Given the description of an element on the screen output the (x, y) to click on. 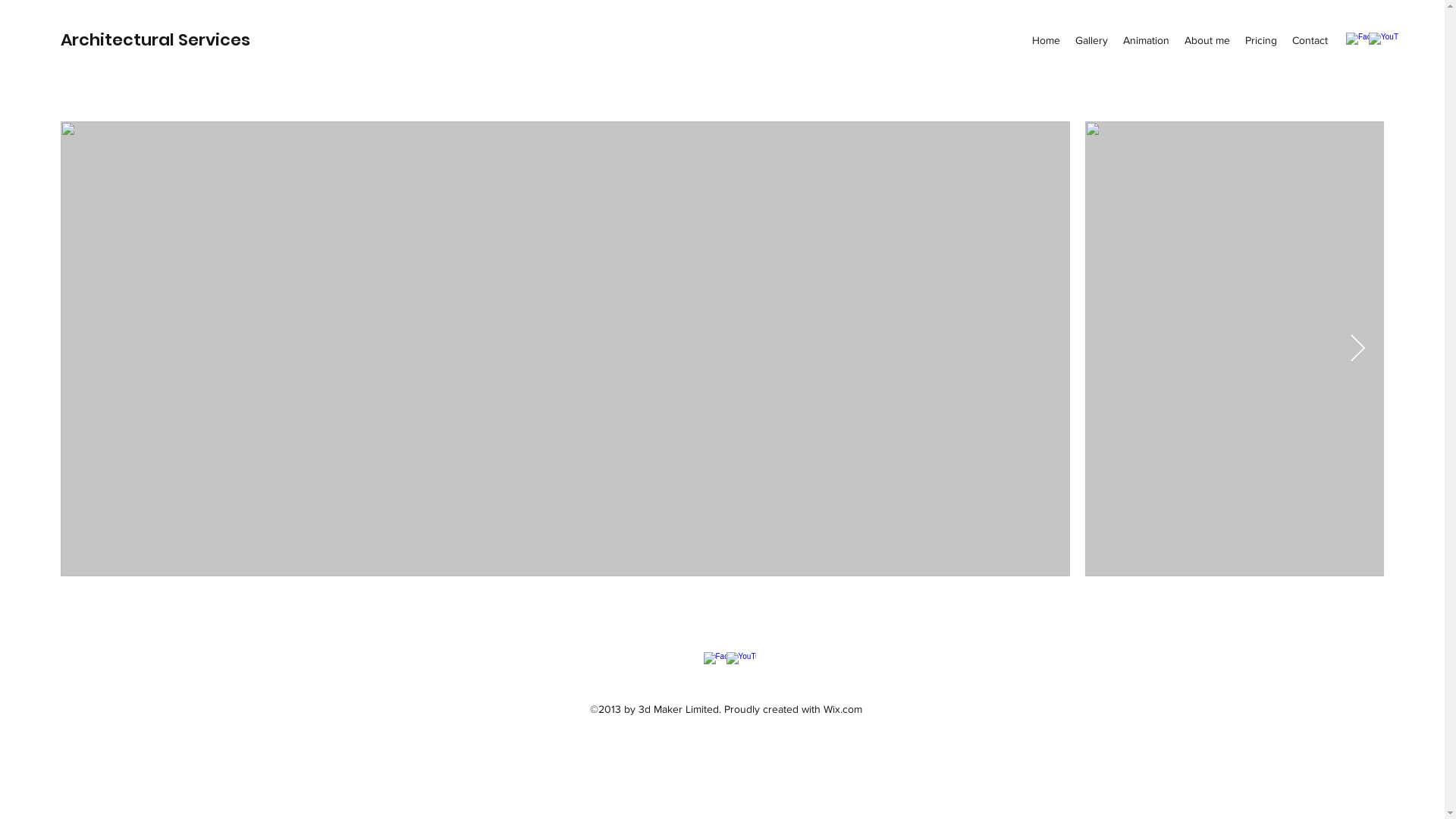
Home Element type: text (1045, 39)
Gallery Element type: text (1091, 39)
Animation Element type: text (1145, 39)
Contact Element type: text (1309, 39)
Pricing Element type: text (1260, 39)
Architectural Services Element type: text (155, 39)
About me Element type: text (1206, 39)
